Given the description of an element on the screen output the (x, y) to click on. 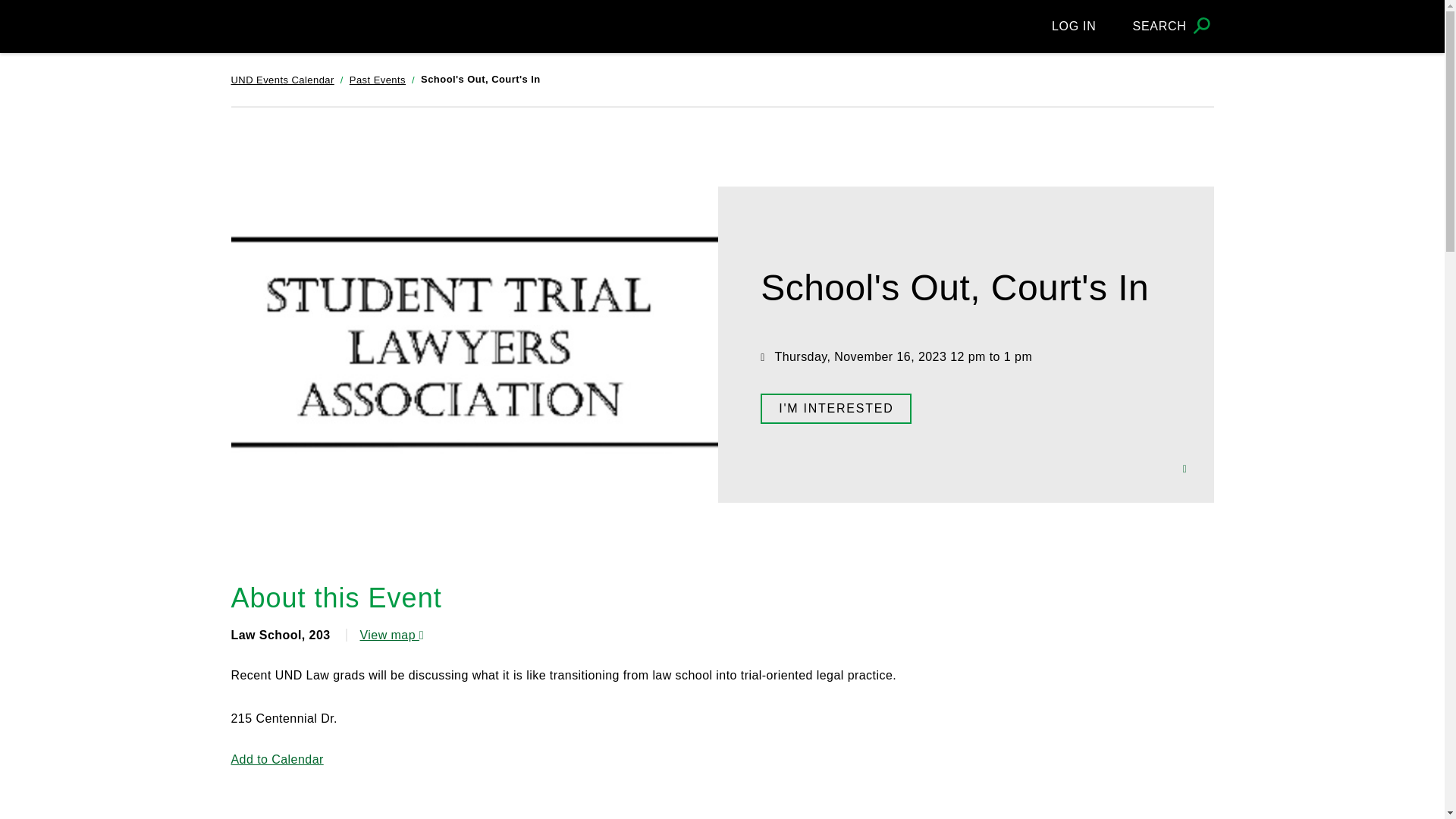
UND Events Calendar (281, 79)
I'M INTERESTED (835, 408)
Past Events (377, 79)
Add to Calendar (276, 758)
View map (391, 634)
LOG IN (1073, 26)
SEARCH (1173, 26)
